Given the description of an element on the screen output the (x, y) to click on. 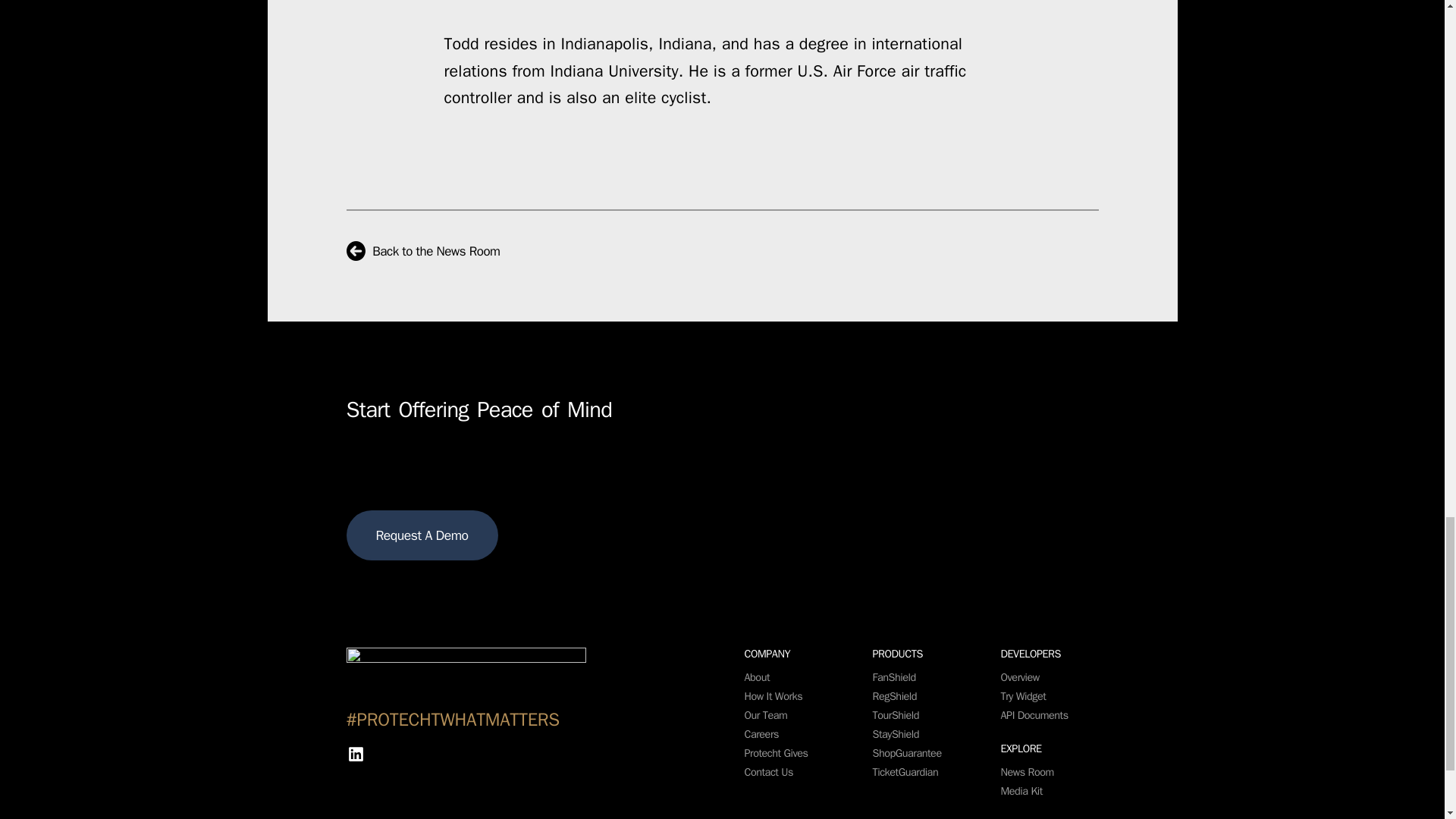
  Back to the News Room (422, 251)
Contact Us (768, 771)
LinkedIn (355, 753)
News Room (1027, 771)
Protecht Gives (776, 753)
TicketGuardian (904, 771)
StayShield (895, 734)
RegShield (894, 695)
Try Widget (1023, 695)
Overview (1020, 676)
